Given the description of an element on the screen output the (x, y) to click on. 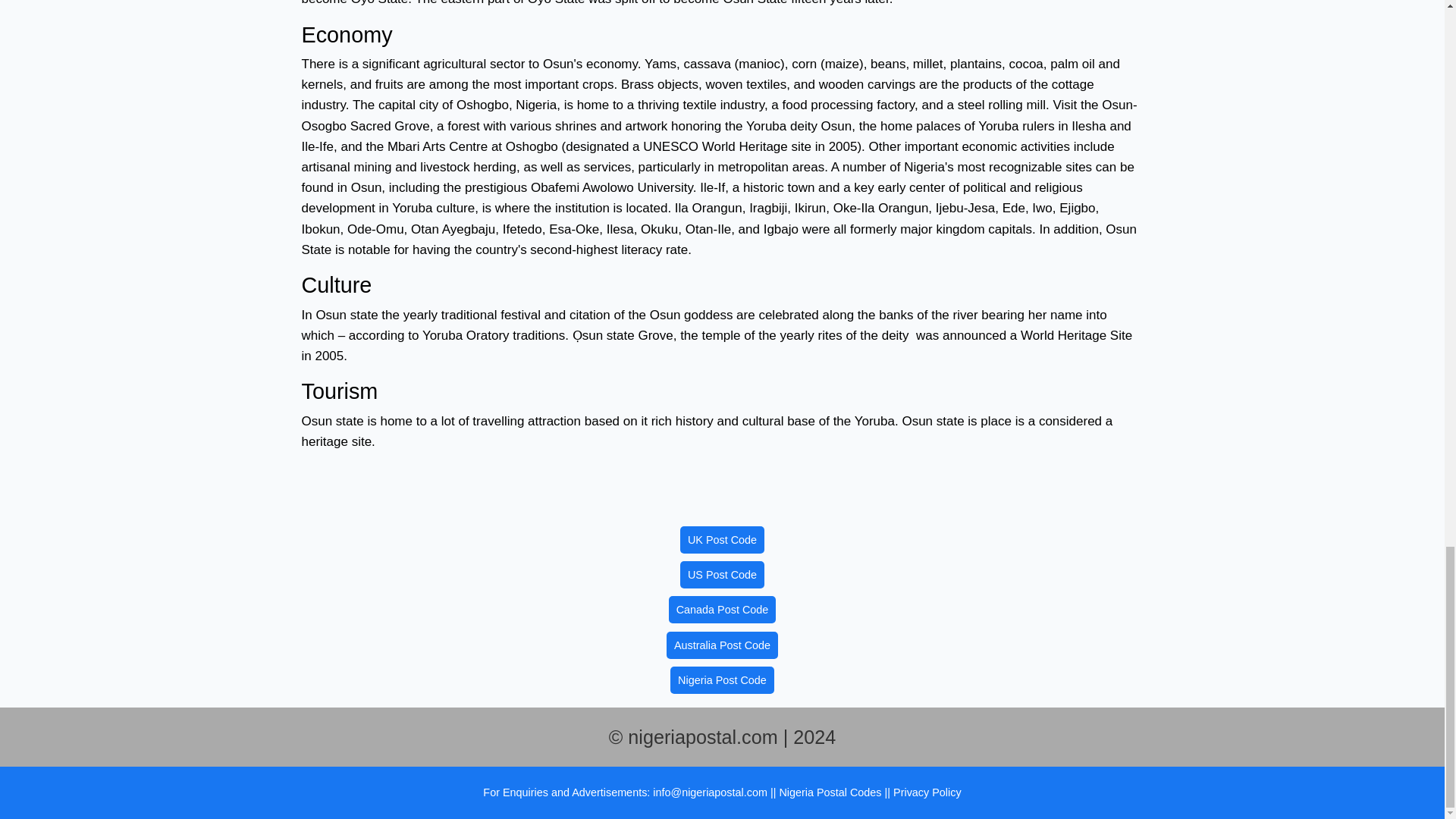
Canada Post Code (722, 609)
Australia Post Code (721, 645)
Nigeria Post Code (721, 679)
UK Post Code (721, 539)
US Post Code (721, 574)
Nigeria Postal Codes (830, 792)
Privacy Policy (926, 792)
